Given the description of an element on the screen output the (x, y) to click on. 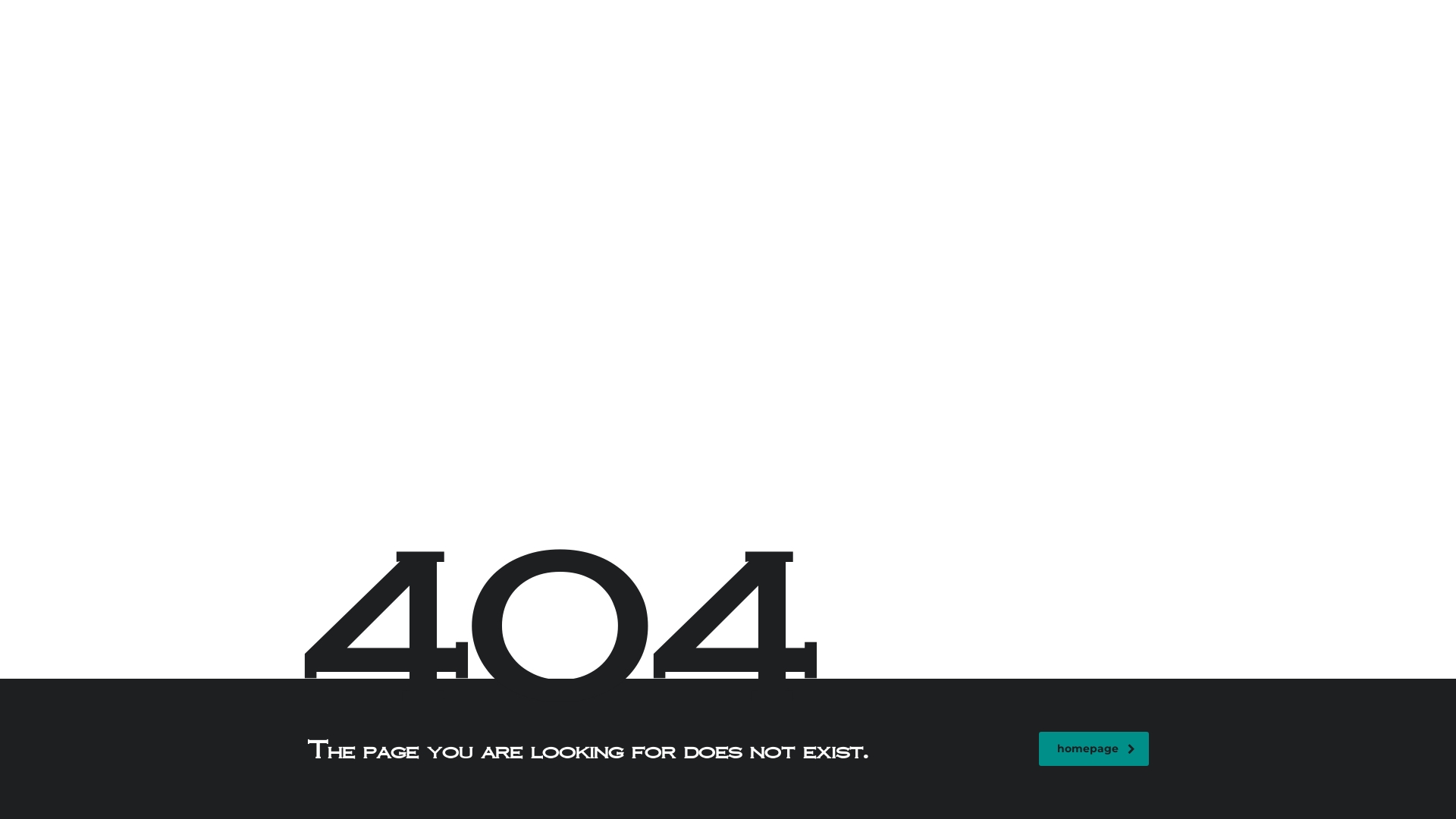
homepage Element type: text (1093, 748)
